Given the description of an element on the screen output the (x, y) to click on. 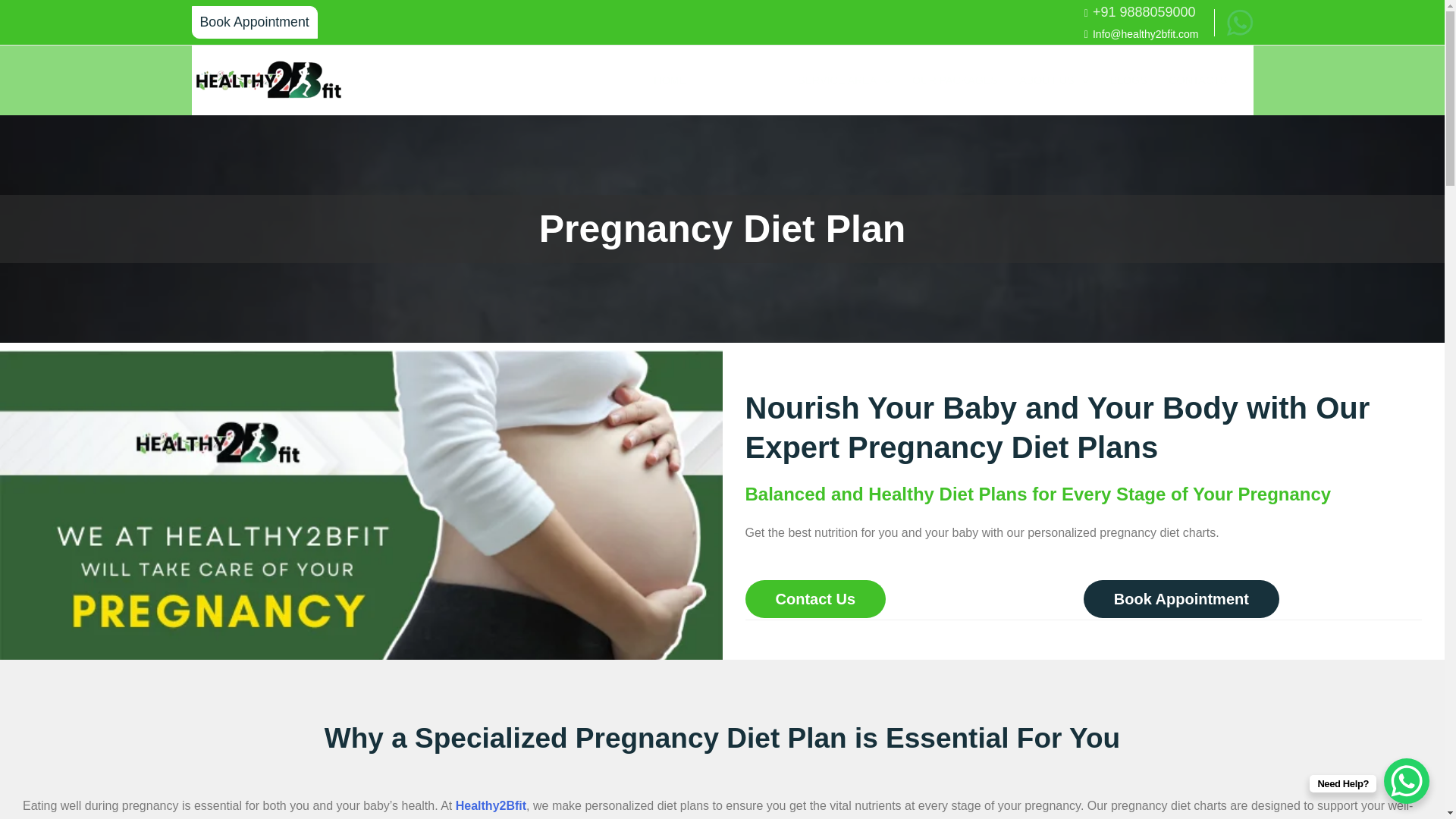
HOME (670, 79)
SERVICES (742, 79)
SERVICE AREA (844, 79)
ABOUT US (1054, 79)
OUR PACKAGES (955, 79)
Book Appointment (253, 21)
